Given the description of an element on the screen output the (x, y) to click on. 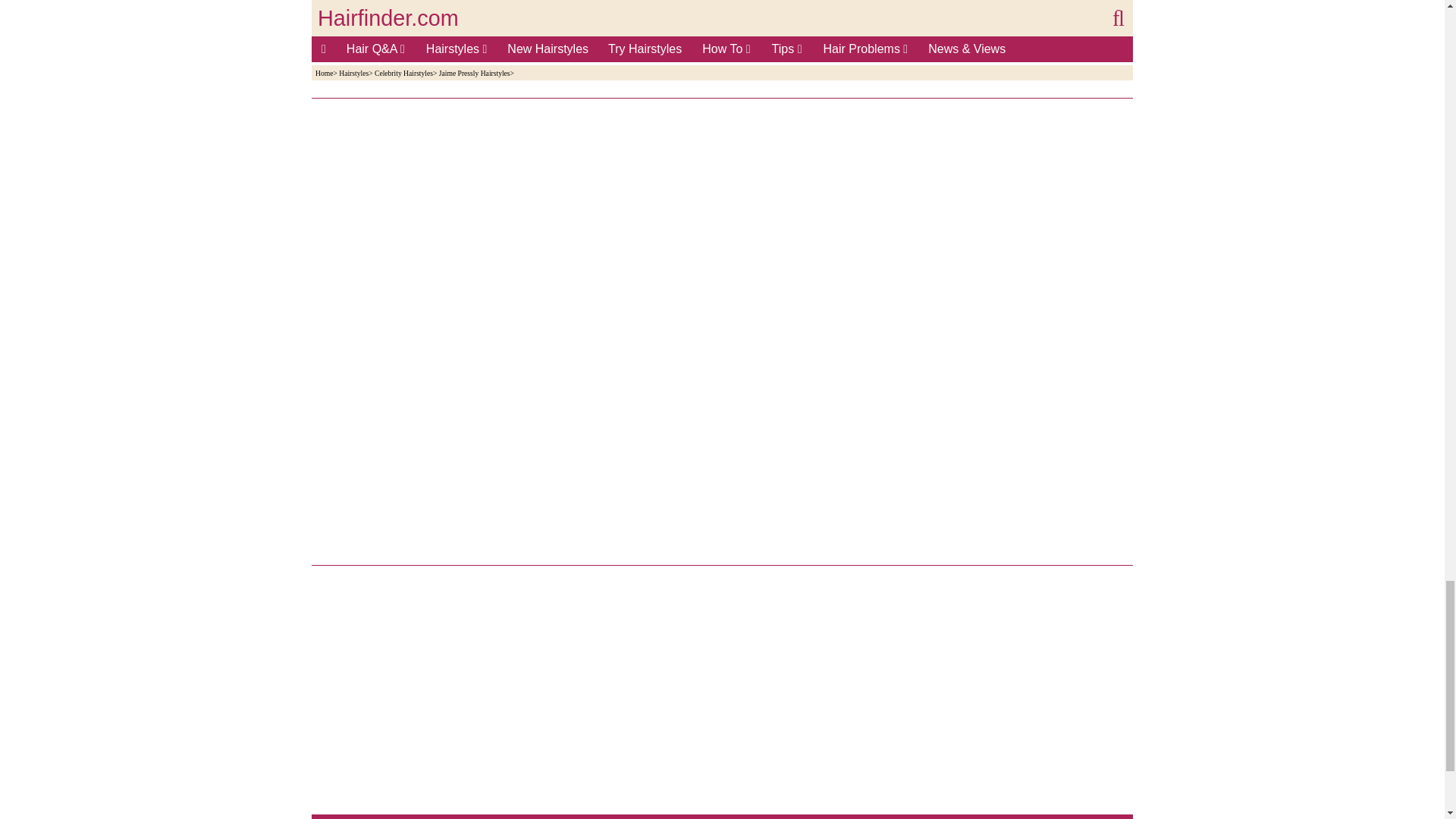
Advertisement (592, 38)
